Given the description of an element on the screen output the (x, y) to click on. 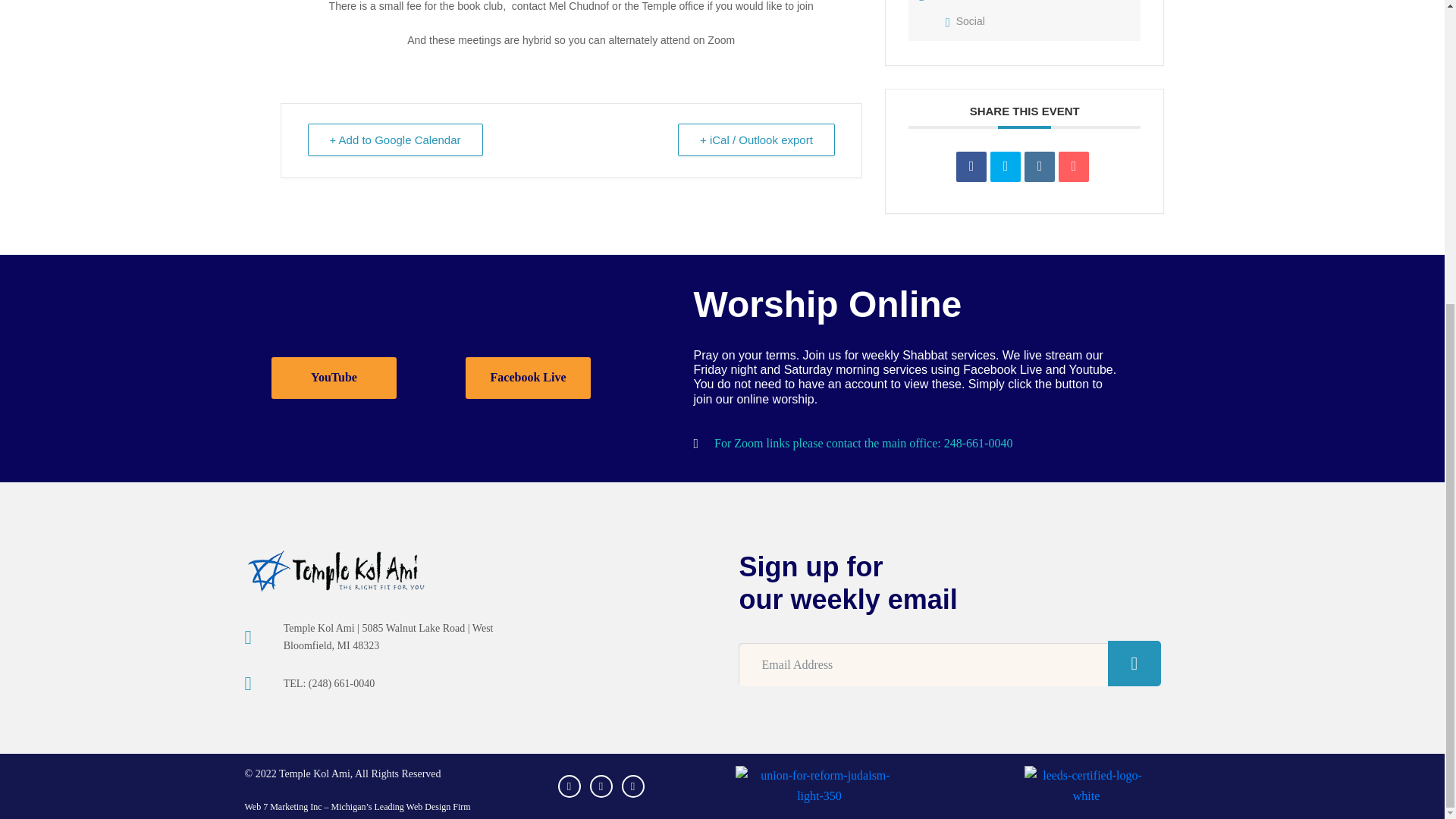
Tweet (1005, 166)
Email (1073, 166)
Michigan Website Design Firm and SEO company (357, 806)
union-for-reform-judaism-light-350 (818, 785)
leeds-certified-logo-white (1086, 785)
Linkedin (1039, 166)
Share on Facebook (971, 166)
